Given the description of an element on the screen output the (x, y) to click on. 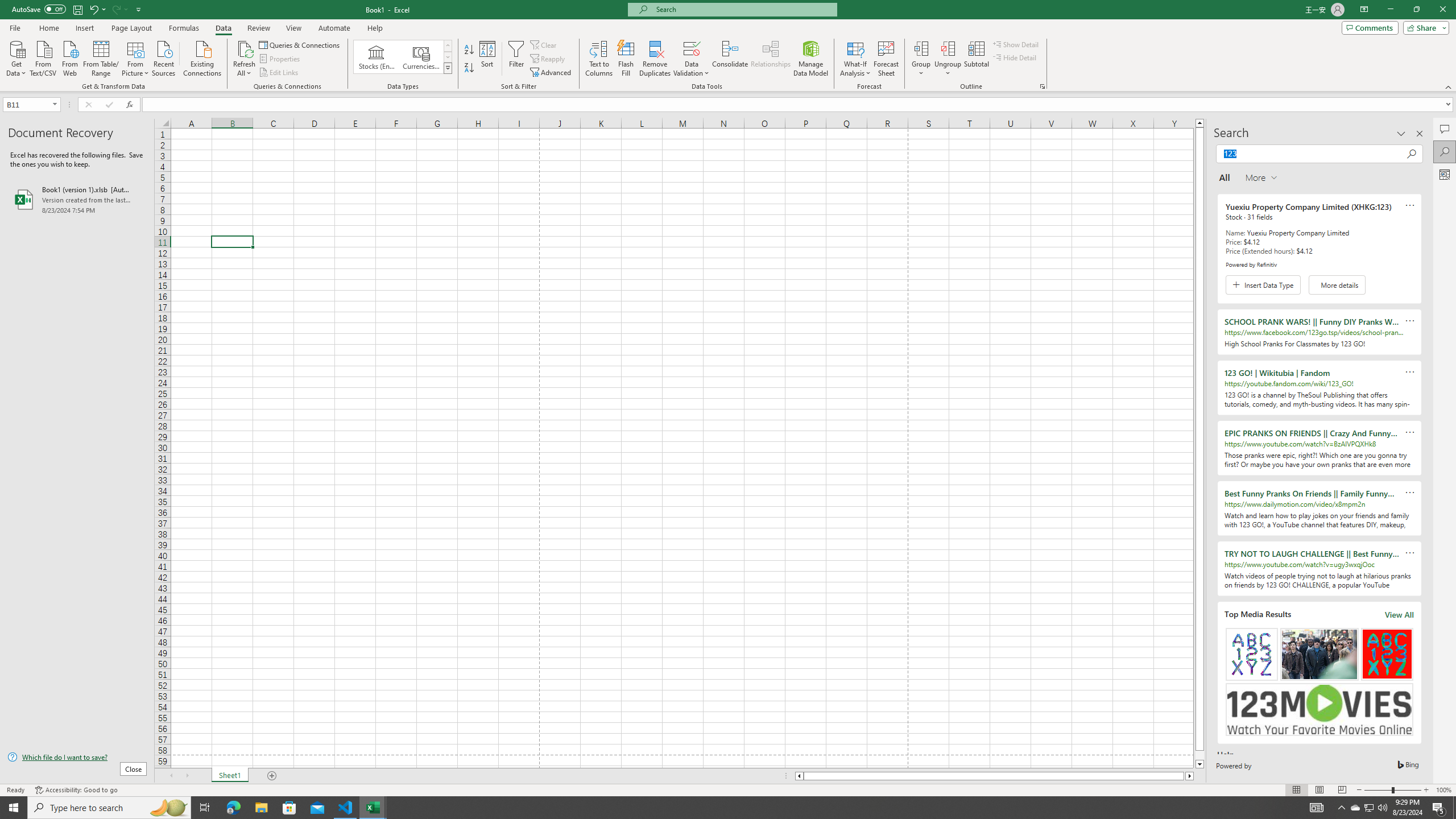
Clear (544, 44)
Group... (921, 48)
Line up (1199, 122)
Recent Sources (163, 57)
Row Down (448, 56)
Show Detail (1016, 44)
Close (1442, 9)
From Web (69, 57)
Advanced... (551, 72)
Data Validation... (691, 48)
Data Types (448, 67)
Sort A to Z (469, 49)
Column left (798, 775)
Normal (1296, 790)
Help (374, 28)
